Given the description of an element on the screen output the (x, y) to click on. 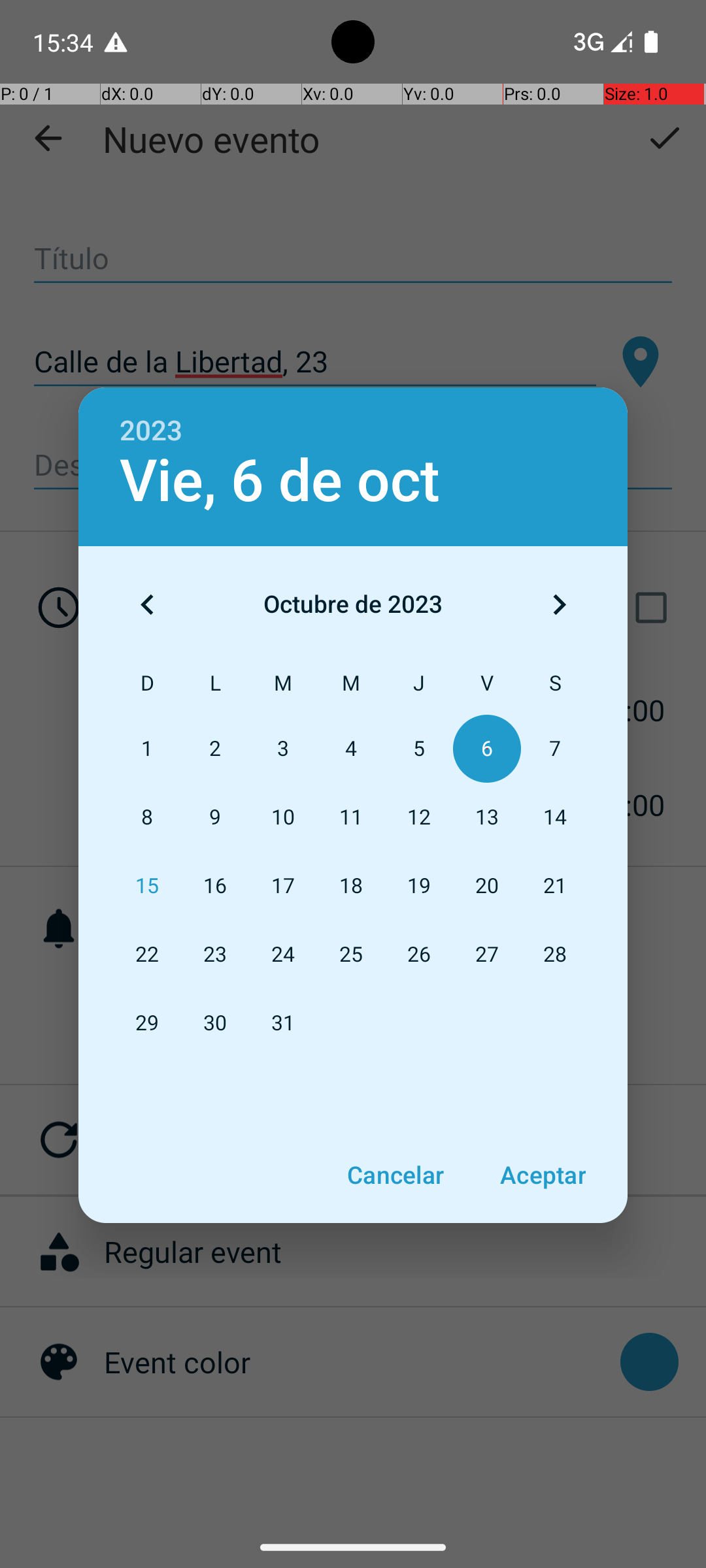
Vie, 6 de oct Element type: android.widget.TextView (279, 480)
Mes anterior Element type: android.widget.ImageButton (146, 604)
Mes siguiente Element type: android.widget.ImageButton (558, 604)
Cancelar Element type: android.widget.Button (394, 1174)
